Given the description of an element on the screen output the (x, y) to click on. 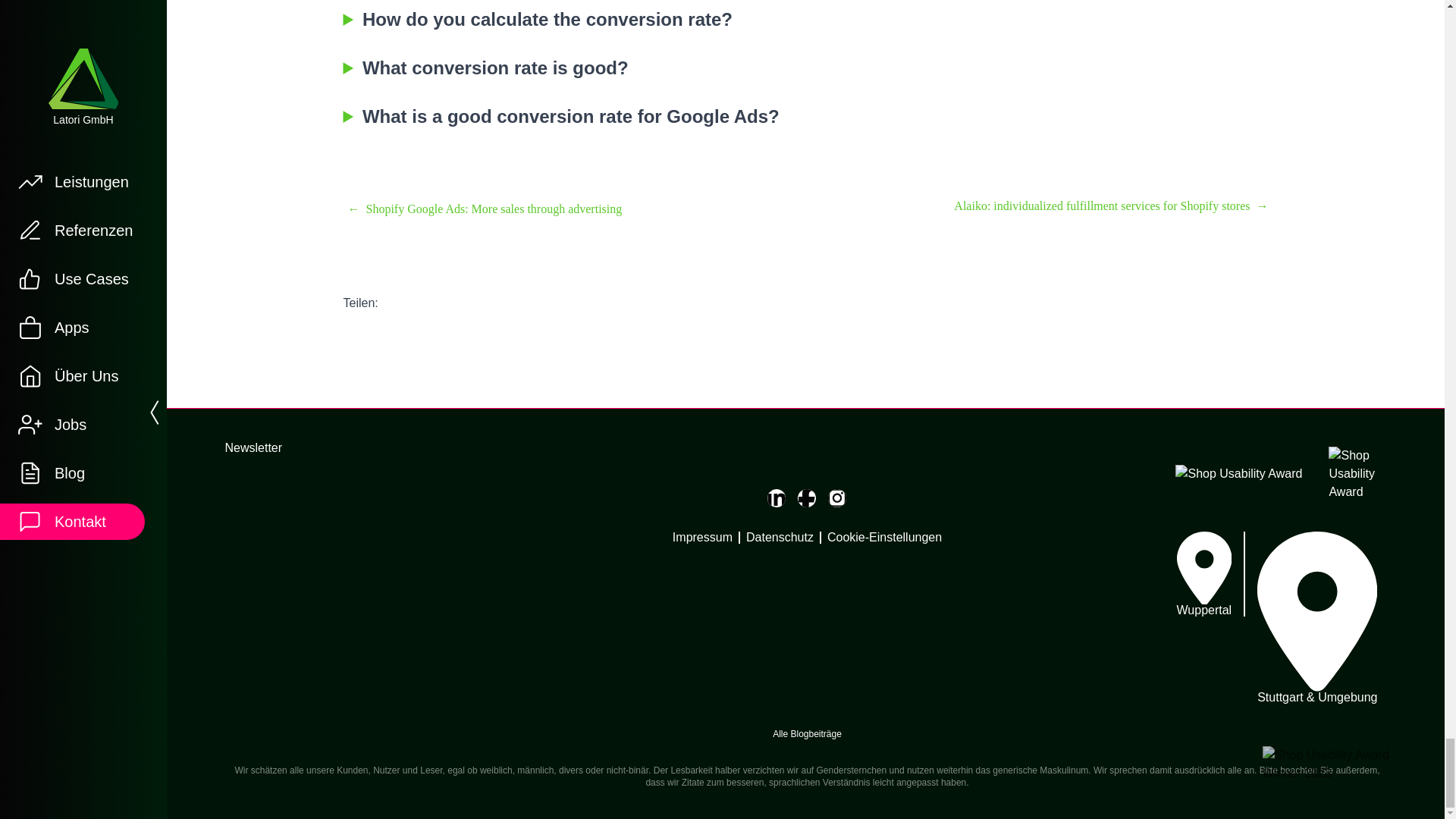
Linkedin (776, 497)
Instagram (836, 497)
Facebook (806, 497)
